Given the description of an element on the screen output the (x, y) to click on. 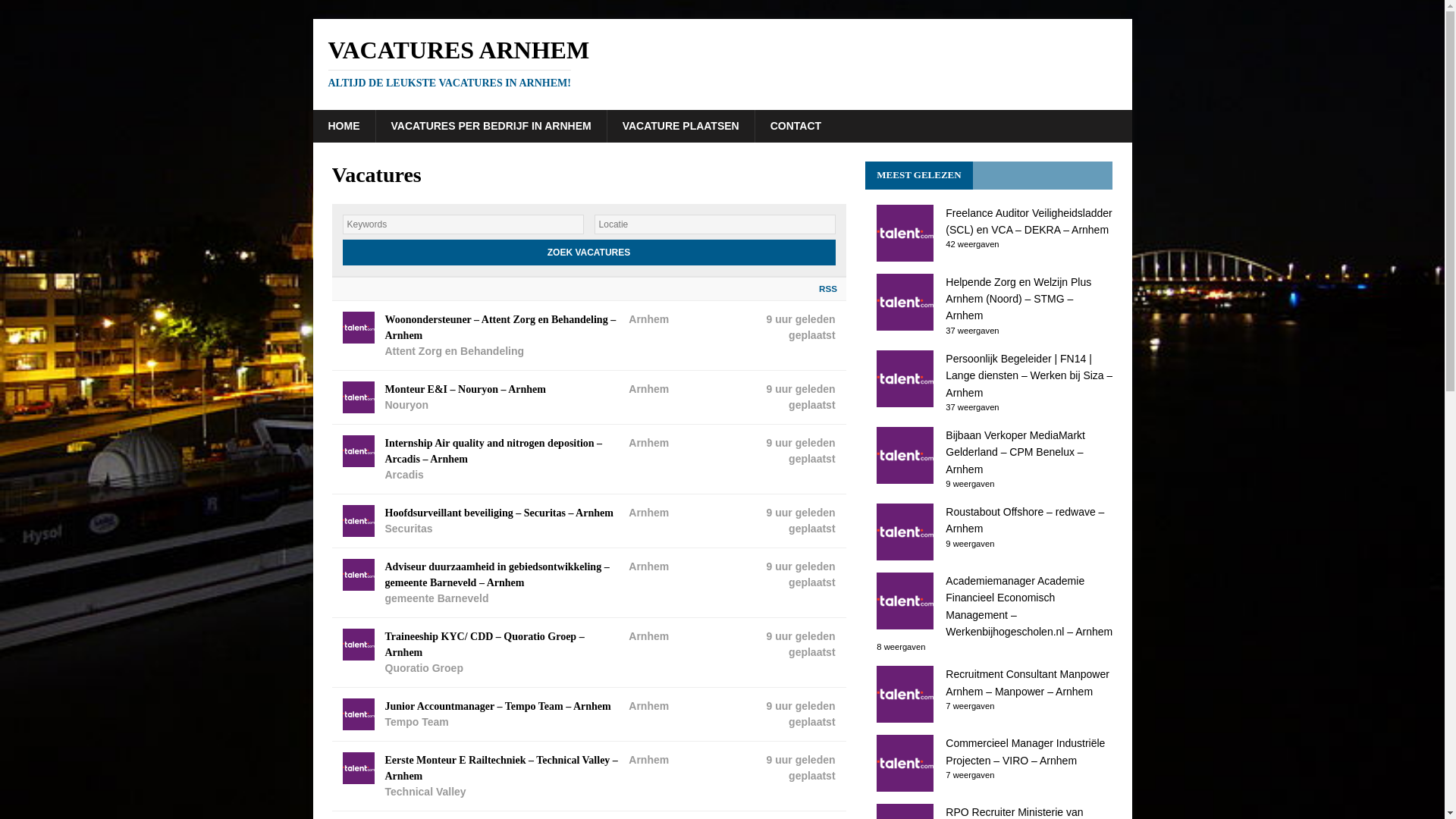
Vacatures Arnhem (721, 62)
HOME (343, 125)
CONTACT (721, 62)
Zoek vacatures (794, 125)
RSS (588, 252)
Zoek vacatures (823, 288)
VACATURES PER BEDRIJF IN ARNHEM (588, 252)
VACATURE PLAATSEN (489, 125)
